Given the description of an element on the screen output the (x, y) to click on. 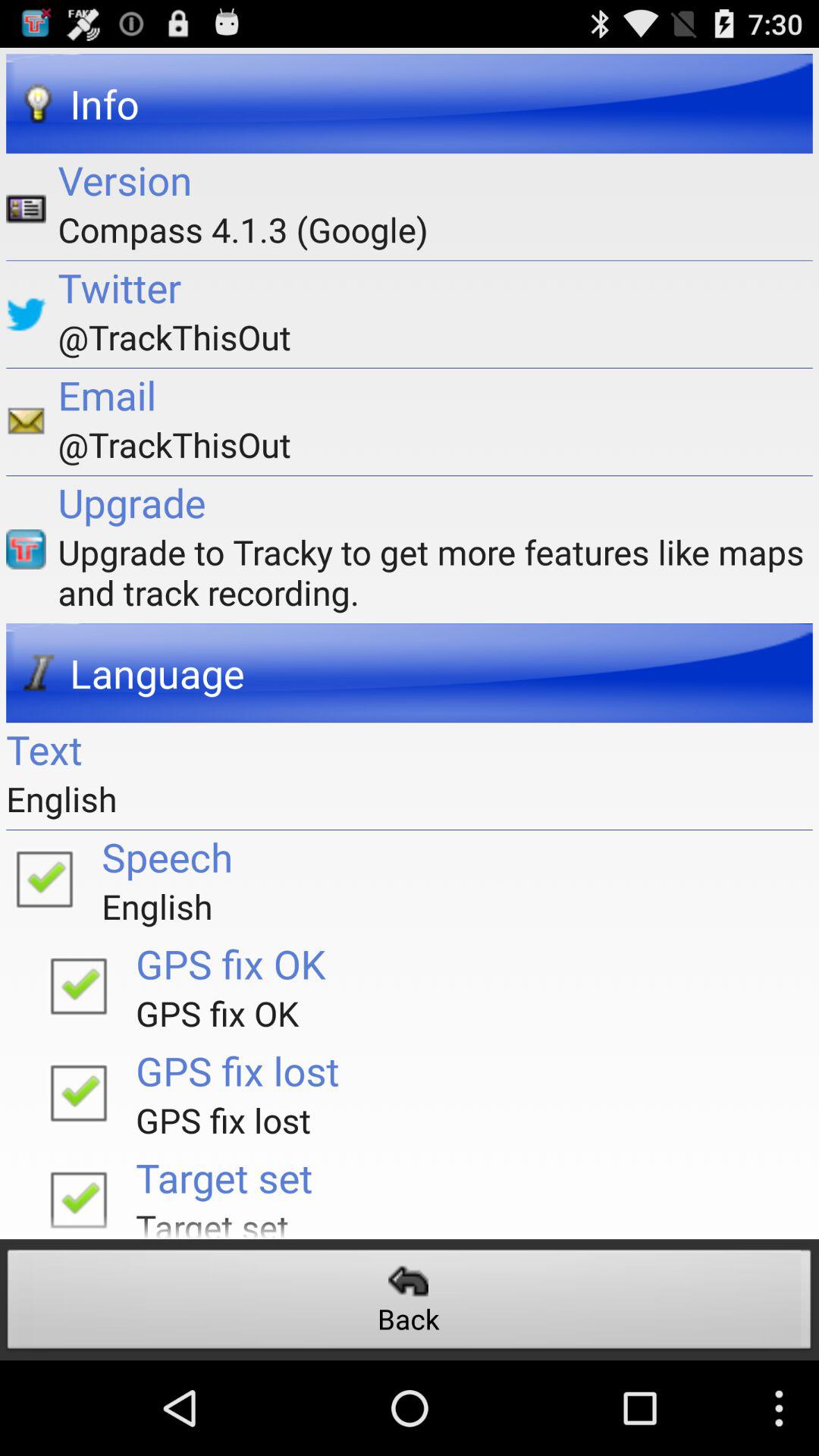
enable/disable (78, 1195)
